Given the description of an element on the screen output the (x, y) to click on. 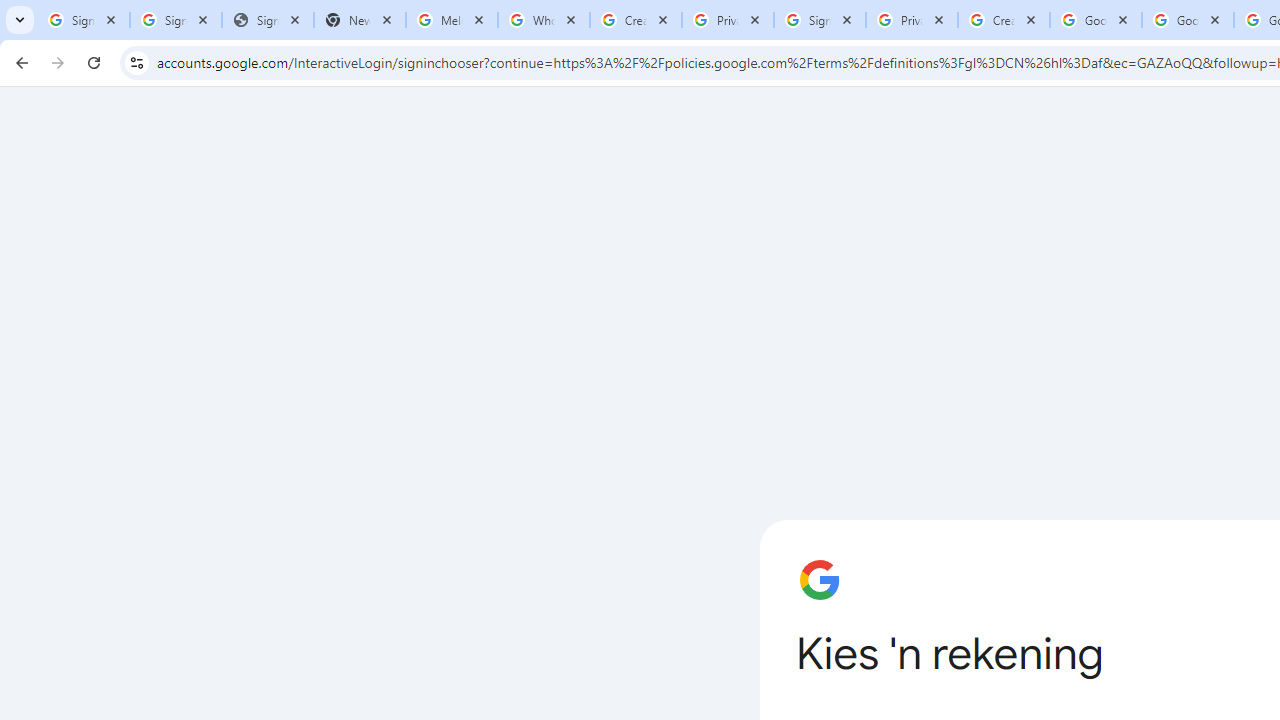
Sign in - Google Accounts (175, 20)
Sign In - USA TODAY (267, 20)
Who is my administrator? - Google Account Help (543, 20)
Sign in - Google Accounts (83, 20)
